Given the description of an element on the screen output the (x, y) to click on. 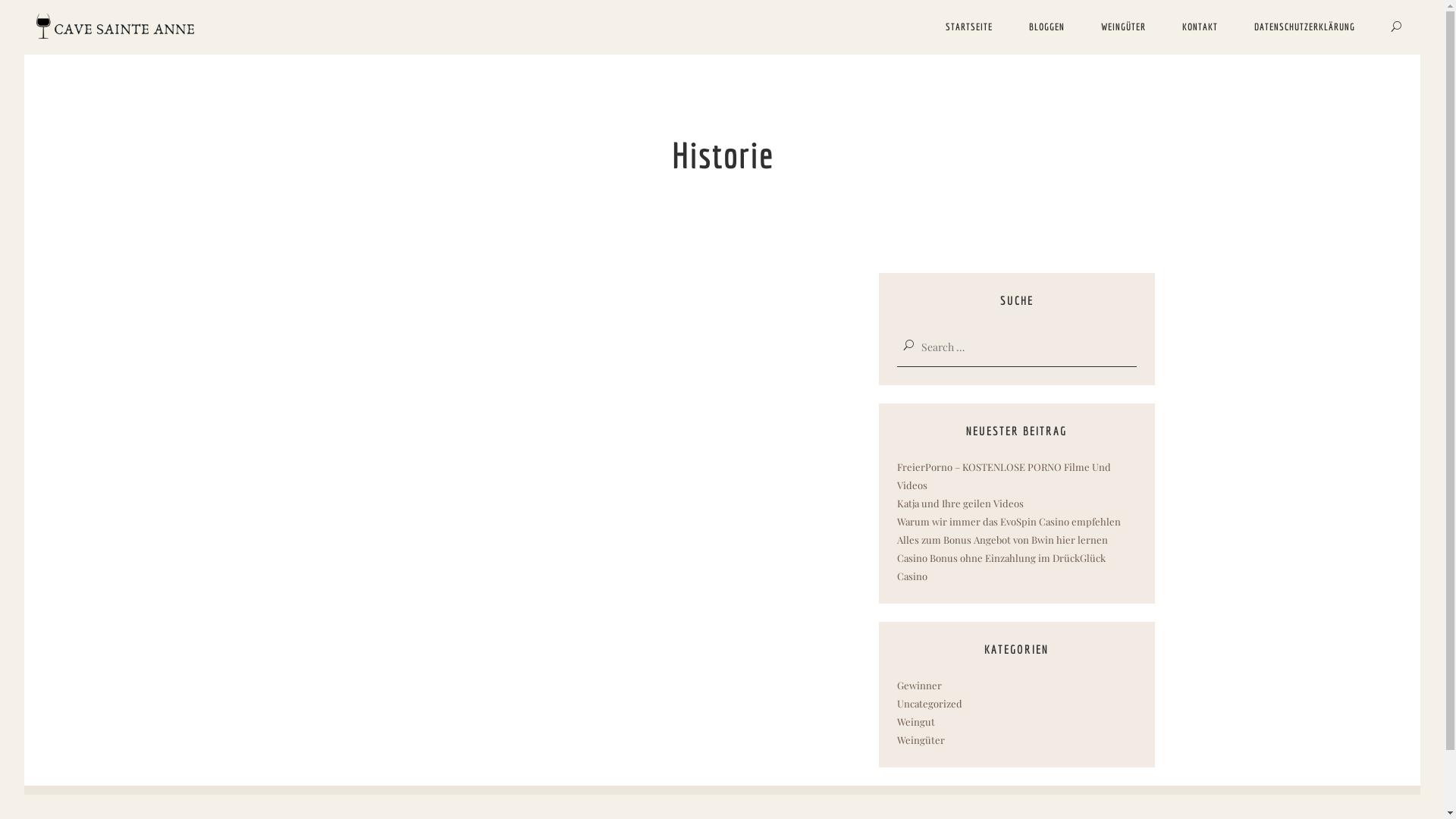
Weingut Element type: text (915, 721)
Search Element type: text (24, 10)
Uncategorized Element type: text (928, 702)
BLOGGEN Element type: text (1046, 27)
Warum wir immer das EvoSpin Casino empfehlen Element type: text (1008, 520)
KONTAKT Element type: text (1200, 27)
Search Element type: text (1396, 27)
Katja und Ihre geilen Videos Element type: text (959, 502)
STARTSEITE Element type: text (968, 27)
Search Element type: text (21, 8)
Gewinner Element type: text (918, 684)
Alles zum Bonus Angebot von Bwin hier lernen Element type: text (1001, 539)
Cave Sainte Anne Element type: hover (111, 27)
